Given the description of an element on the screen output the (x, y) to click on. 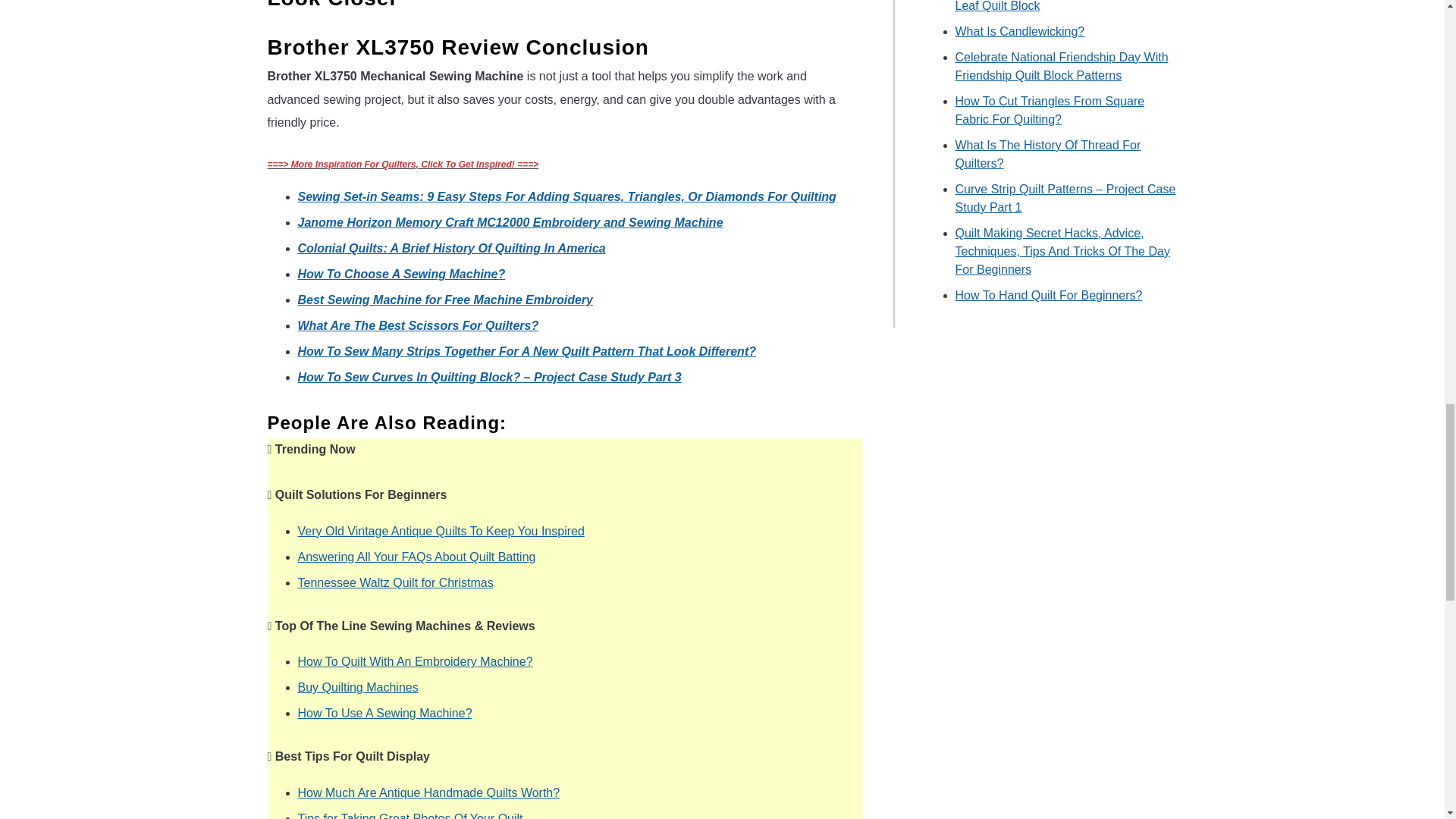
Tennessee Waltz Quilt for Christmas (395, 582)
What Are The Best Scissors For Quilters? (417, 325)
Tips for Taking Great Photos Of Your Quilt (409, 815)
How To Choose A Sewing Machine? (401, 273)
Answering All Your FAQs About Quilt Batting (416, 556)
Best Sewing Machine for Free Machine Embroidery (444, 299)
Very Old Vintage Antique Quilts To Keep You Inspired (440, 530)
